Given the description of an element on the screen output the (x, y) to click on. 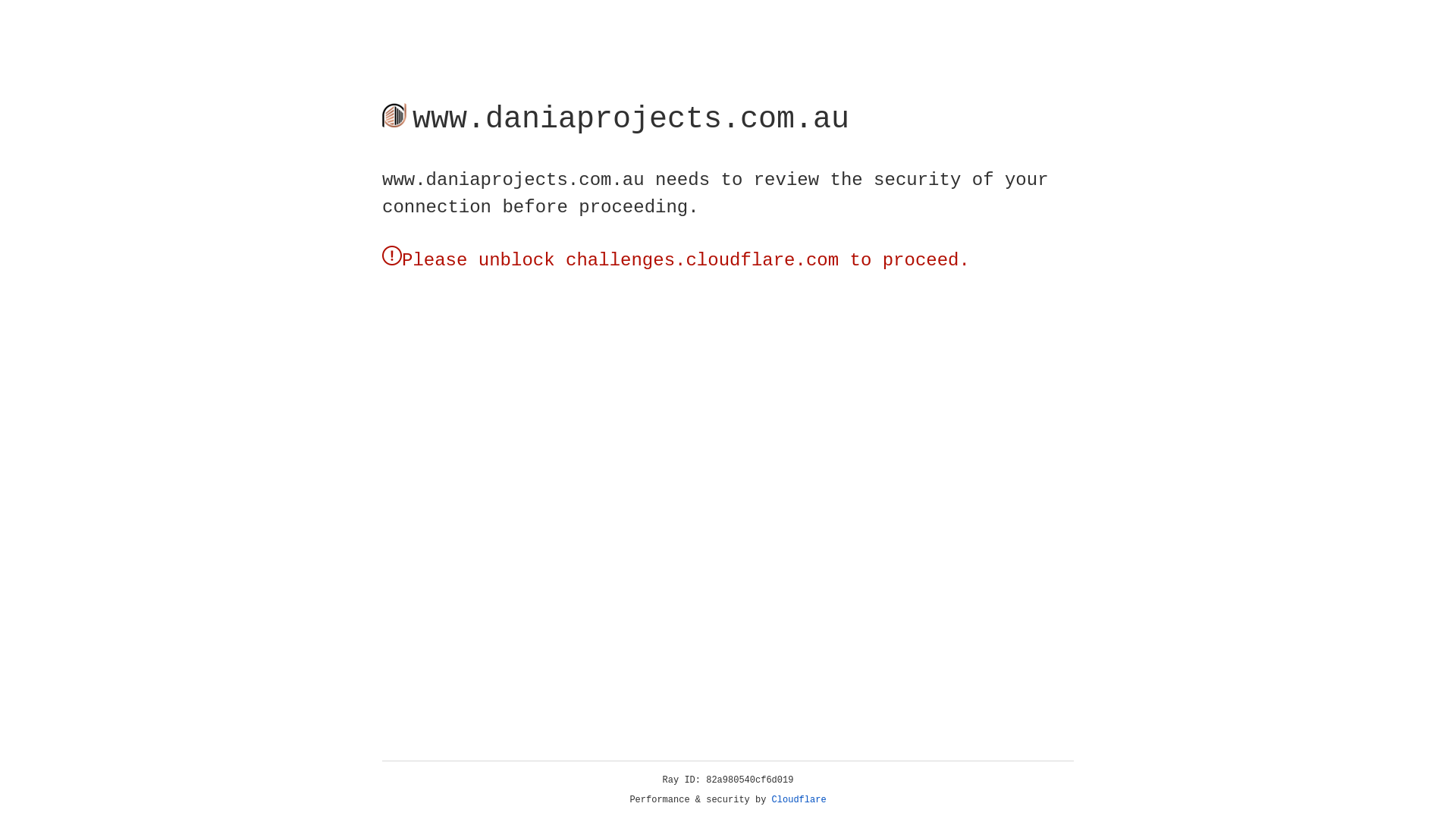
Cloudflare Element type: text (798, 799)
